Given the description of an element on the screen output the (x, y) to click on. 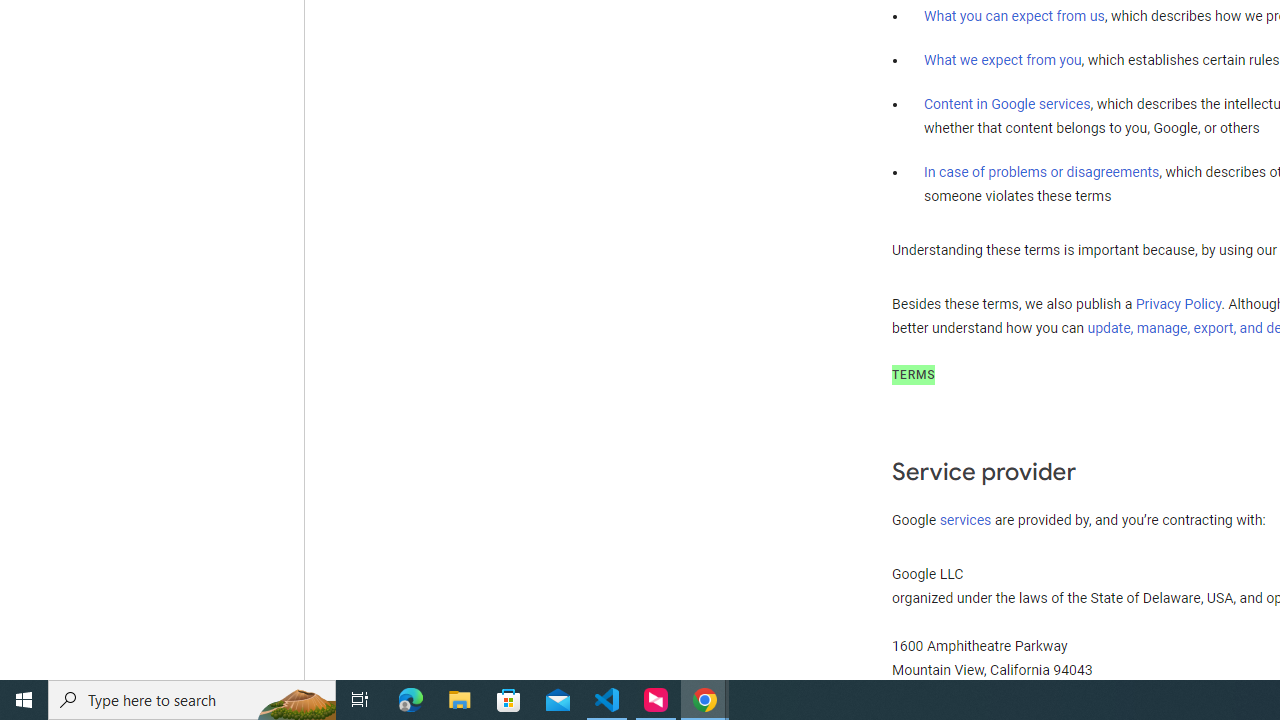
What we expect from you (1002, 60)
In case of problems or disagreements (1041, 171)
What you can expect from us (1014, 16)
Content in Google services (1007, 104)
services (965, 520)
